Given the description of an element on the screen output the (x, y) to click on. 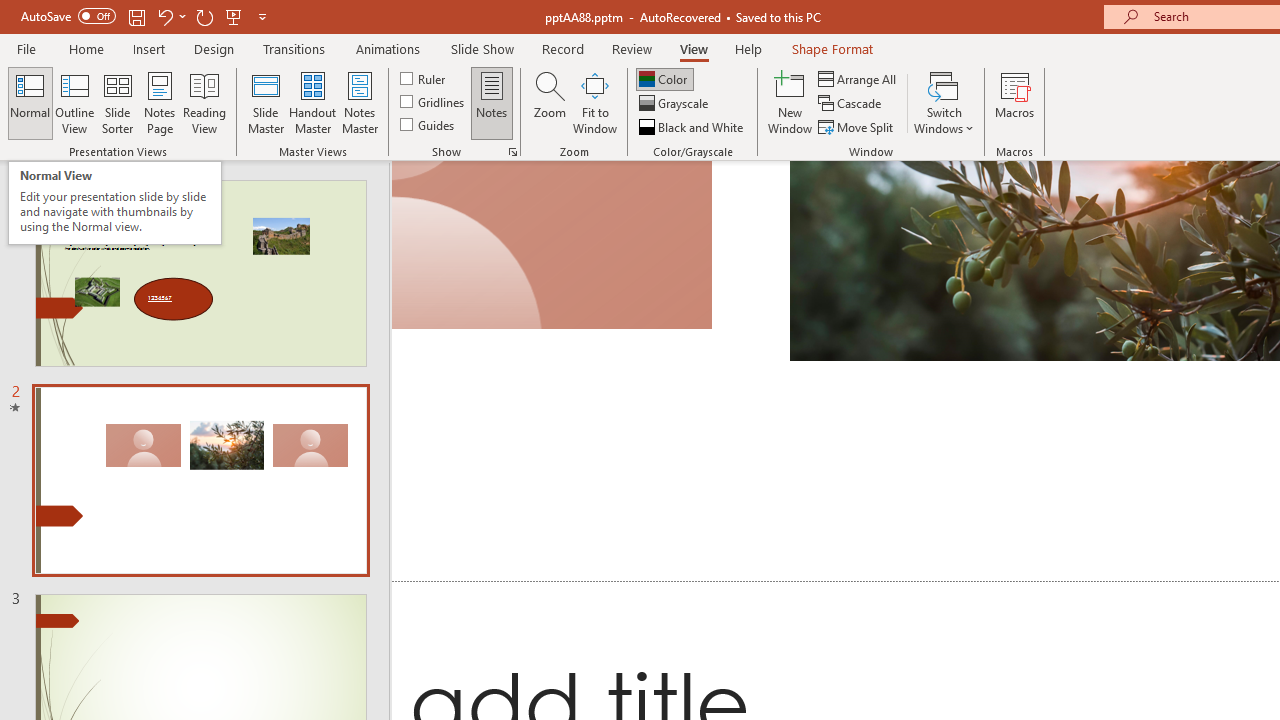
Outline View (74, 102)
